Given the description of an element on the screen output the (x, y) to click on. 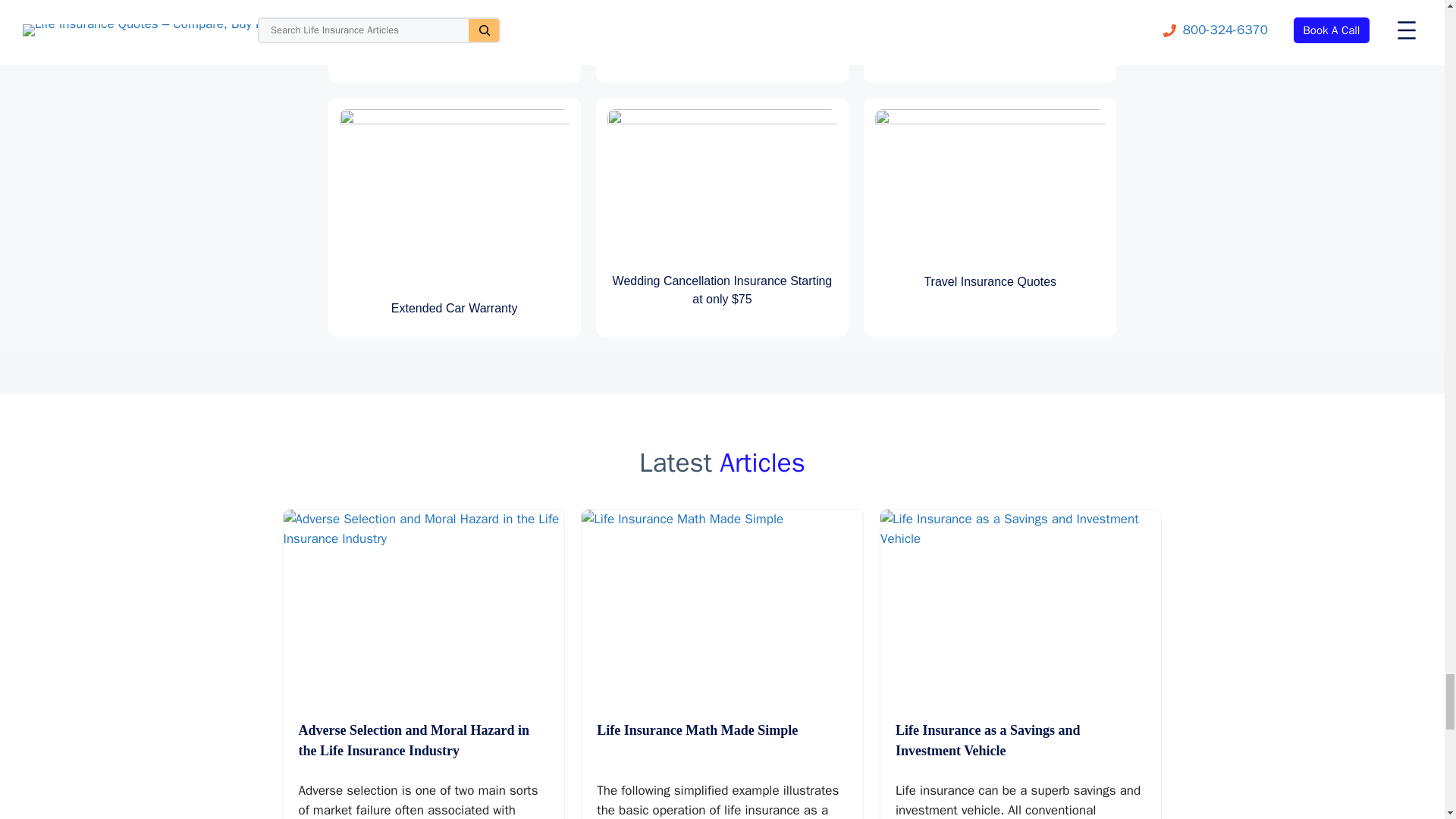
carwar (454, 198)
travelInsurance2 (990, 184)
beach-chairs-clouds (722, 184)
